Given the description of an element on the screen output the (x, y) to click on. 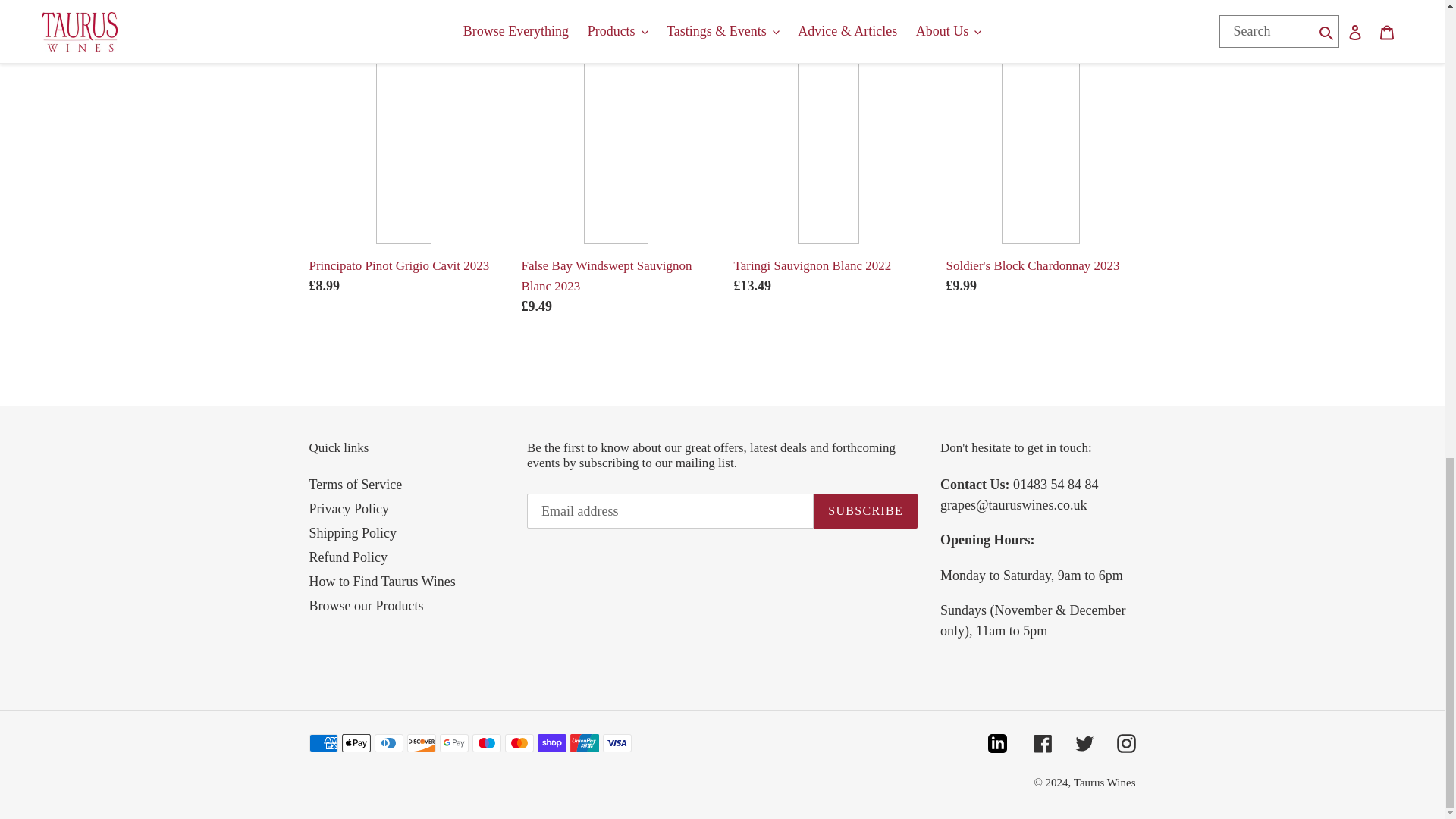
Diners Club (388, 742)
Apple Pay (354, 742)
Mastercard (519, 742)
American Express (322, 742)
Shop Pay (551, 742)
Maestro (485, 742)
Google Pay (453, 742)
Discover (420, 742)
Union Pay (584, 742)
